Given the description of an element on the screen output the (x, y) to click on. 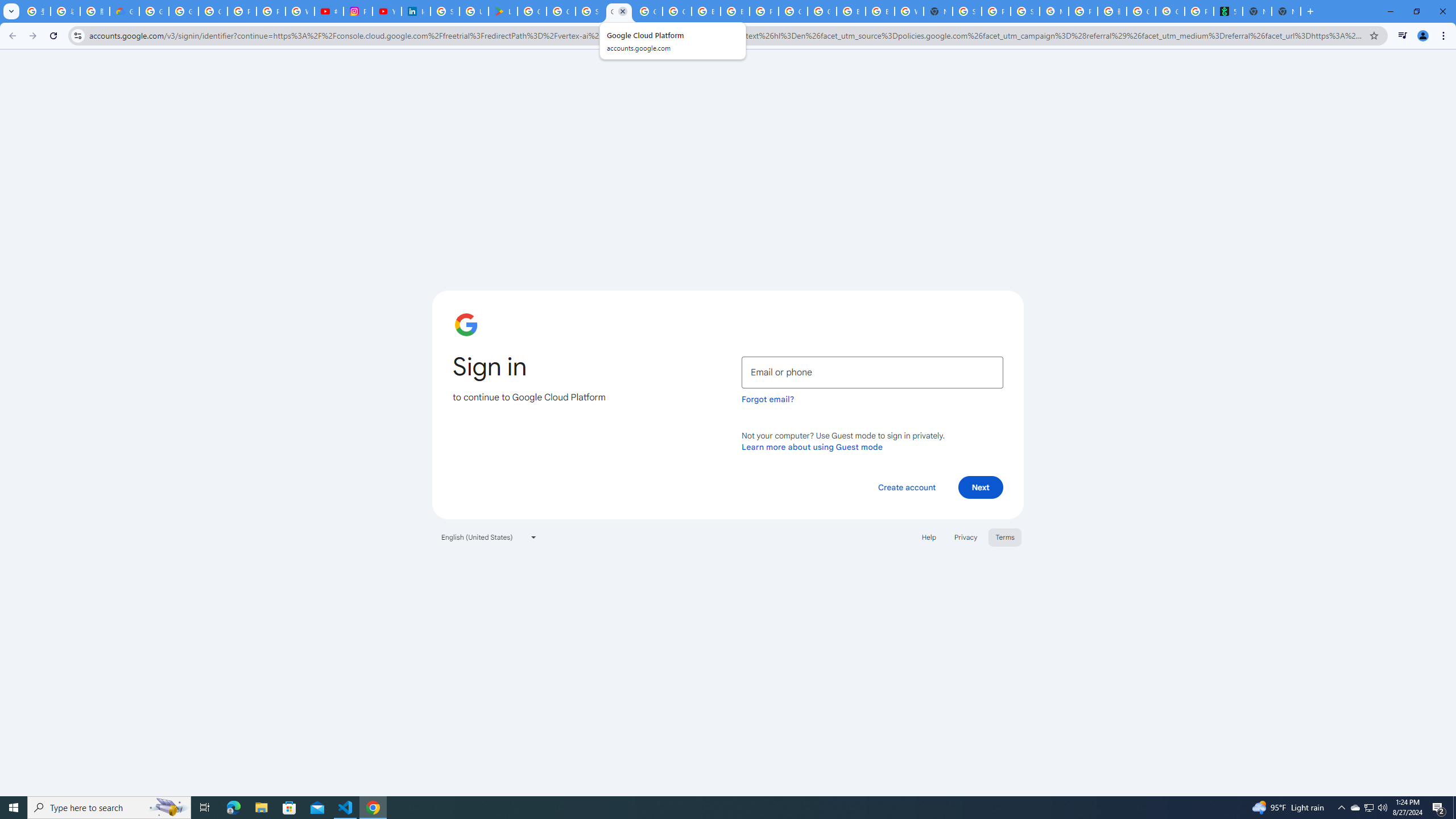
YouTube Culture & Trends - On The Rise: Handcam Videos (386, 11)
Next (980, 486)
Last Shelter: Survival - Apps on Google Play (502, 11)
#nbabasketballhighlights - YouTube (327, 11)
